Given the description of an element on the screen output the (x, y) to click on. 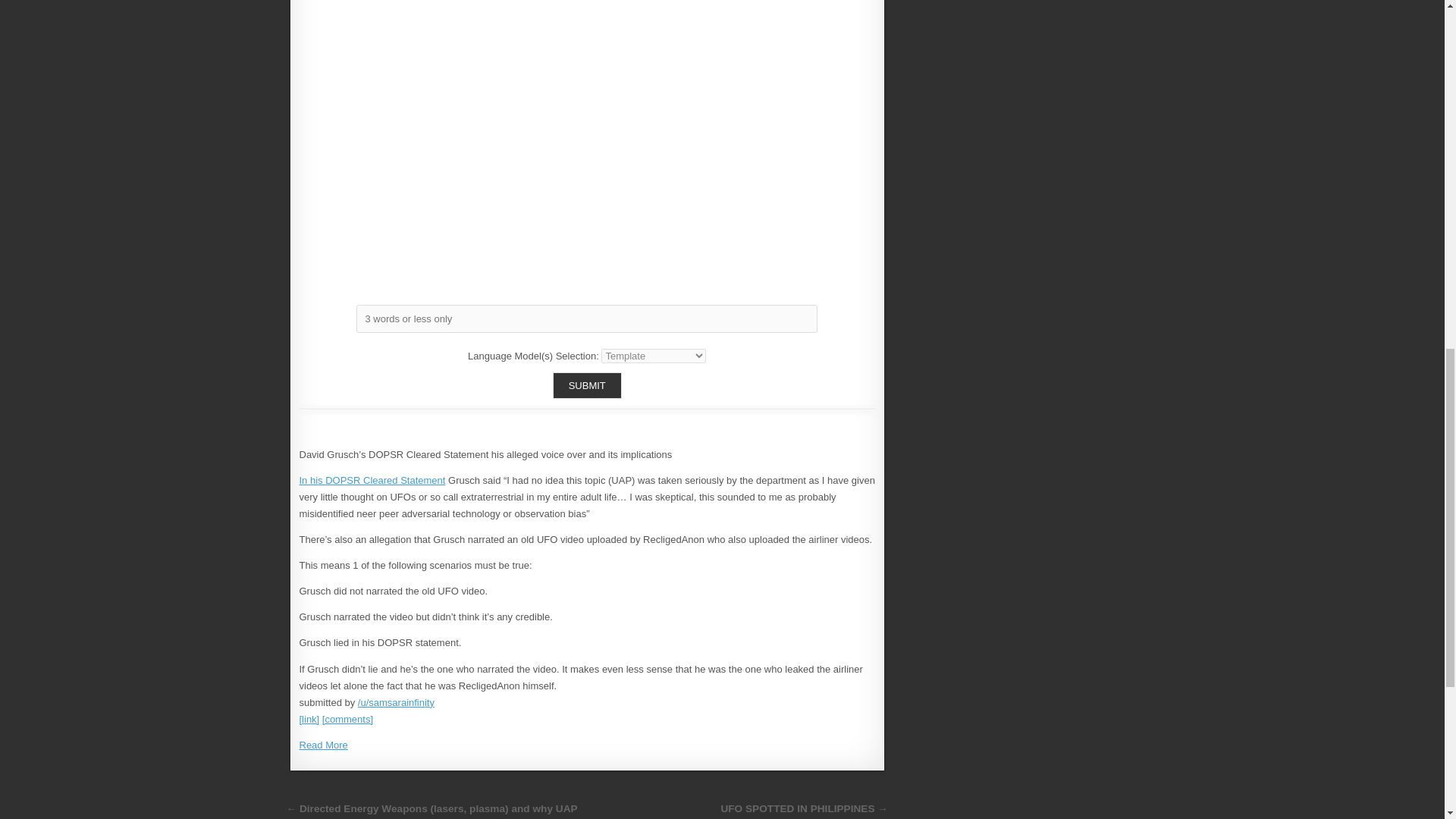
In his DOPSR Cleared Statement (371, 480)
SUBMIT (587, 385)
Read More (322, 745)
